Given the description of an element on the screen output the (x, y) to click on. 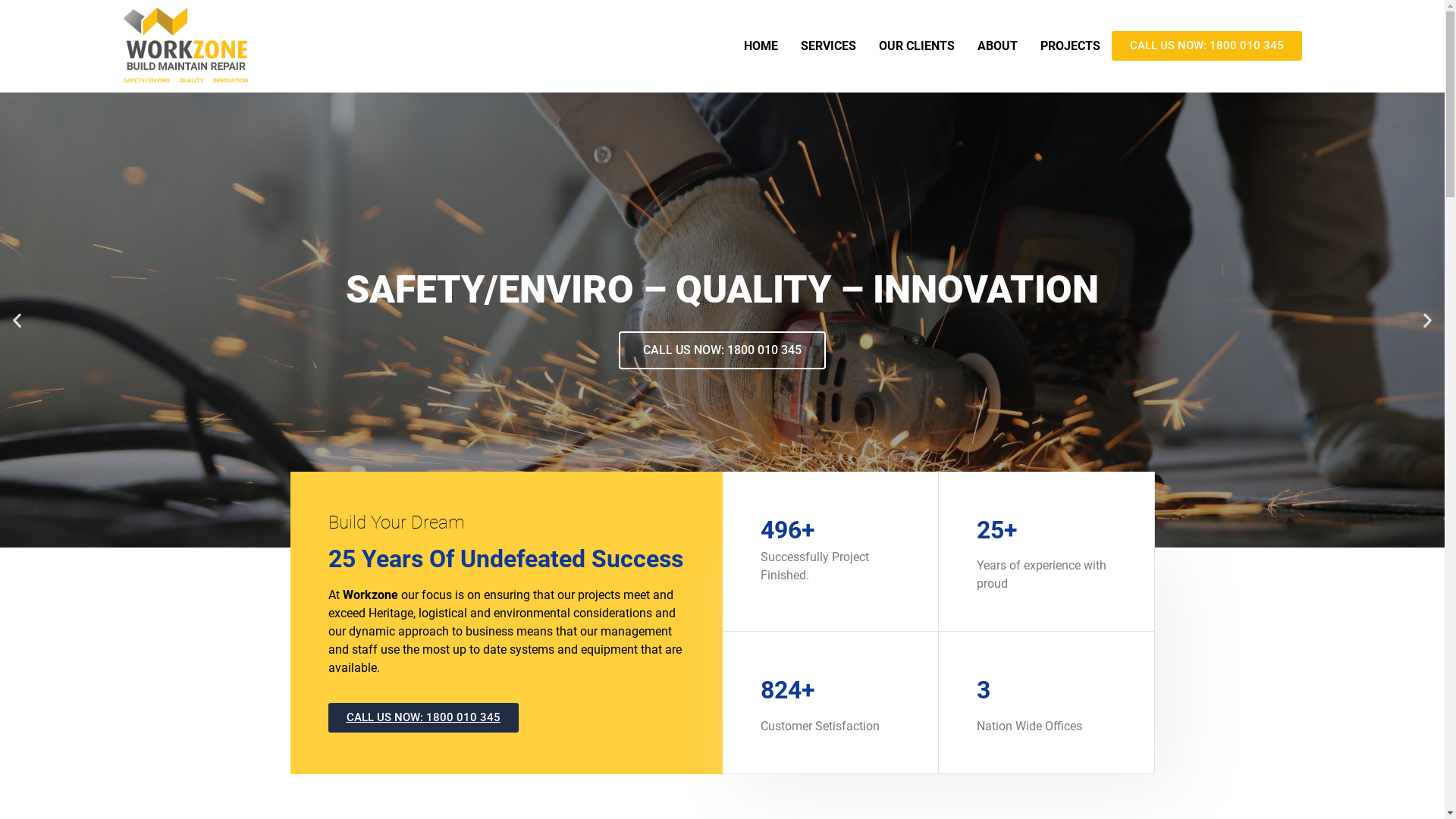
PROJECTS Element type: text (1070, 45)
SERVICES Element type: text (828, 45)
CALL US NOW: 1800 010 345 Element type: text (422, 717)
OUR CLIENTS Element type: text (916, 45)
ABOUT Element type: text (997, 45)
HOME Element type: text (760, 45)
CALL US NOW: 1800 010 345 Element type: text (1206, 45)
